Given the description of an element on the screen output the (x, y) to click on. 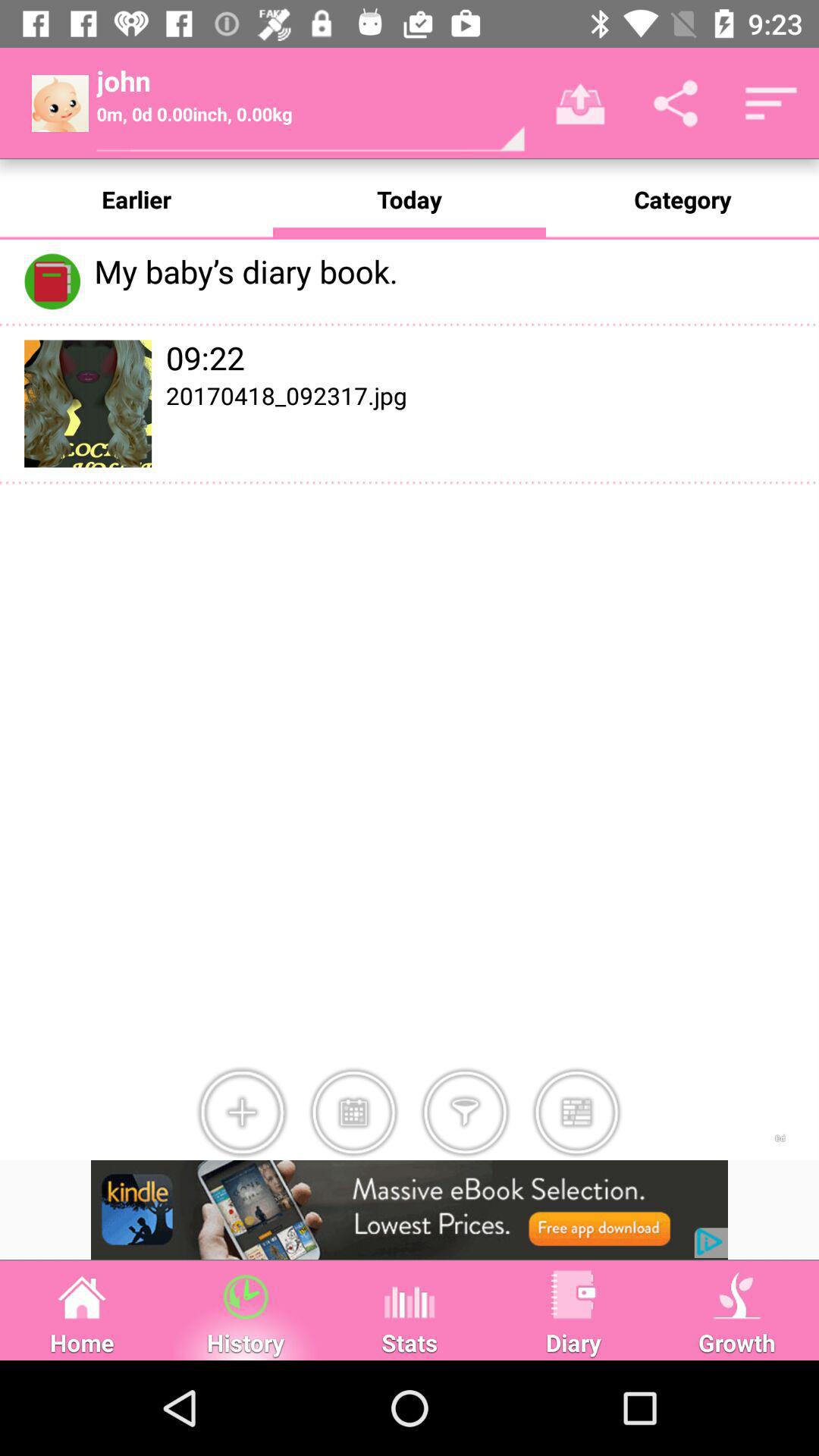
open advertisement (409, 1209)
